Given the description of an element on the screen output the (x, y) to click on. 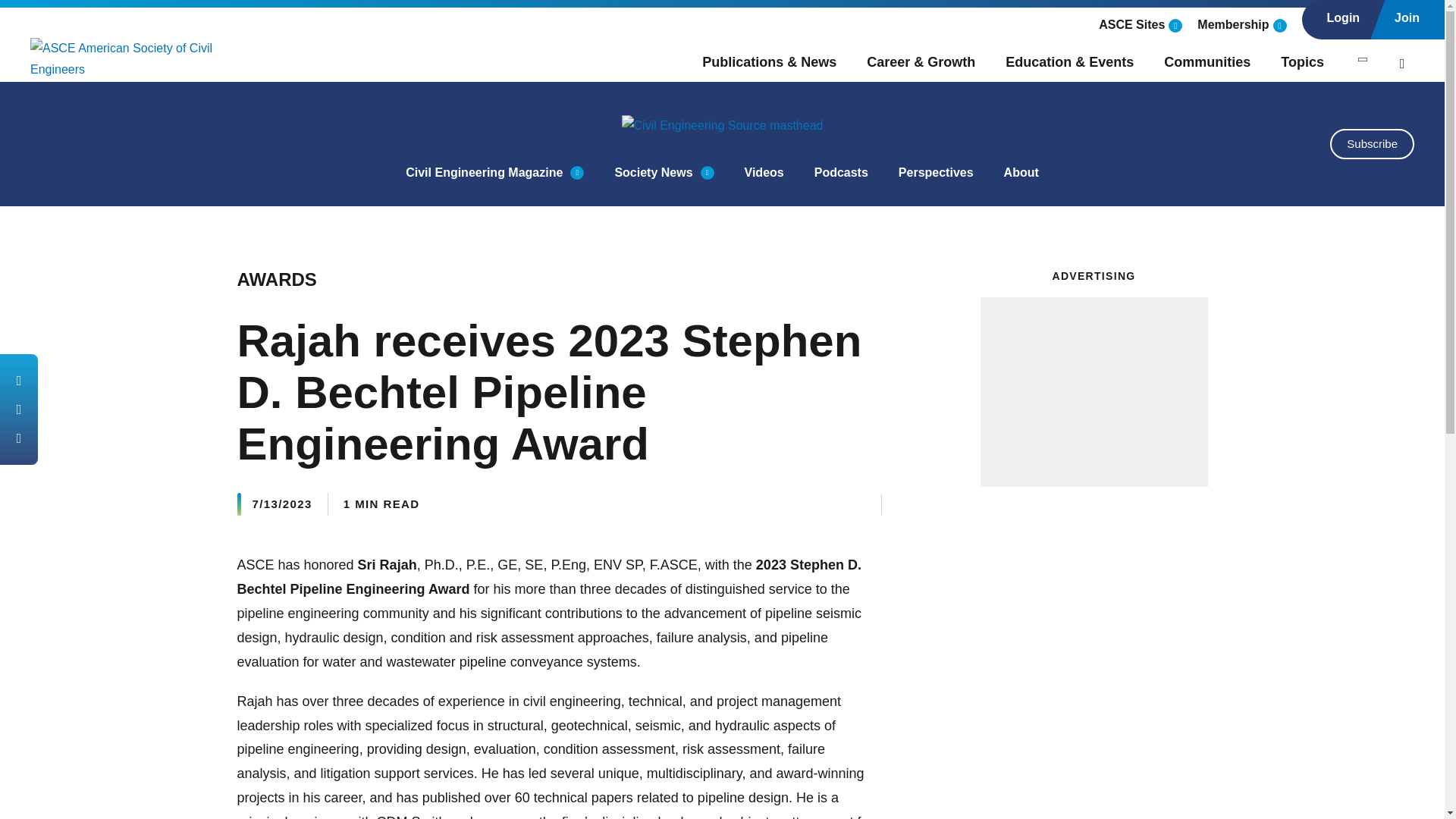
Subscribe to ASCE's Civil Engineering Source (1371, 143)
Podcasts (840, 172)
Videos (764, 172)
Civil Engineering Magazine (484, 172)
Civil Engineering Source (722, 125)
